Given the description of an element on the screen output the (x, y) to click on. 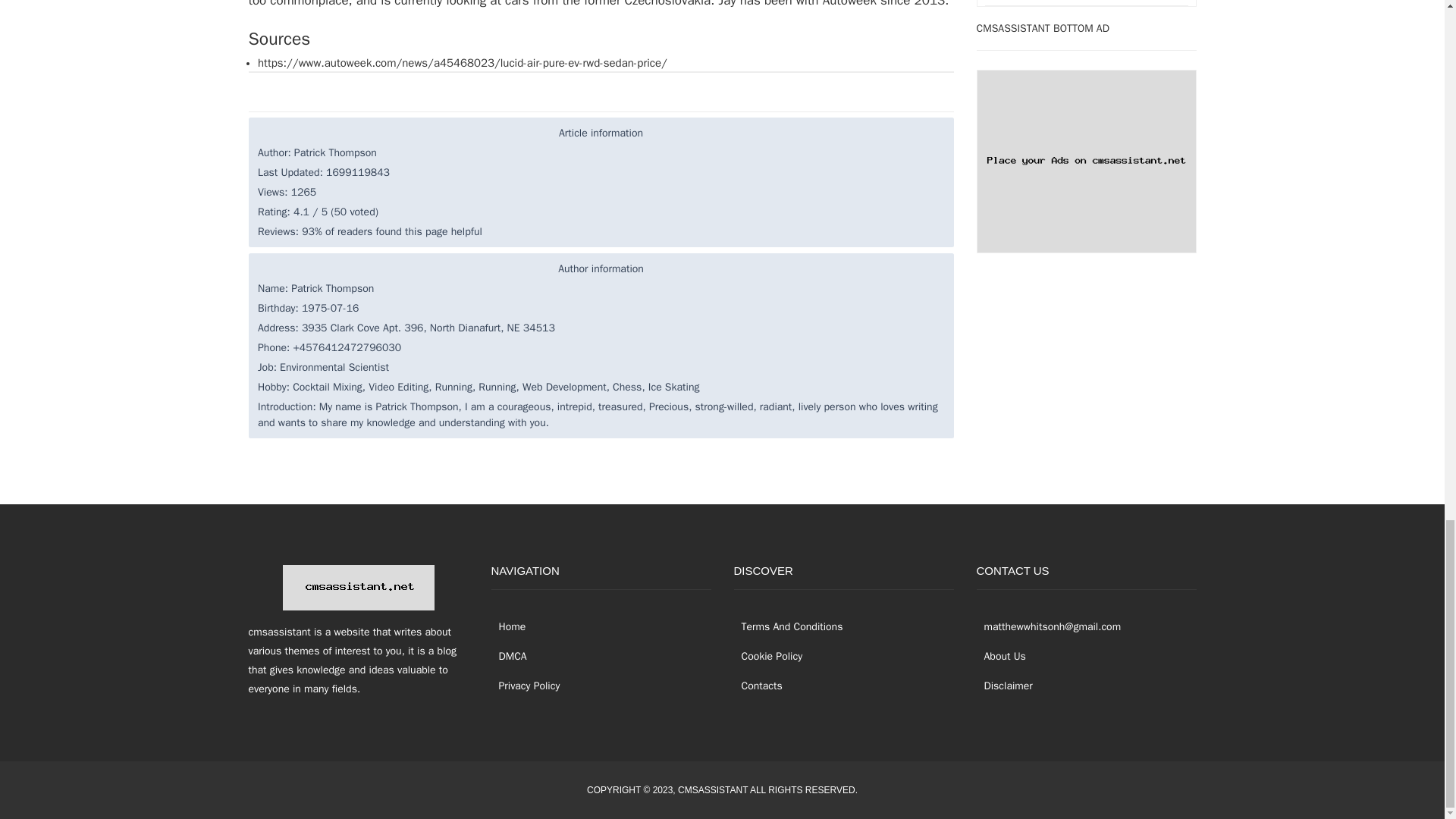
Disclaimer (1004, 685)
Cookie Policy (768, 655)
DMCA (509, 655)
CMSASSISTANT (713, 788)
Terms And Conditions (788, 626)
Contacts (758, 685)
About Us (1001, 655)
Home (508, 626)
Privacy Policy (526, 685)
